Given the description of an element on the screen output the (x, y) to click on. 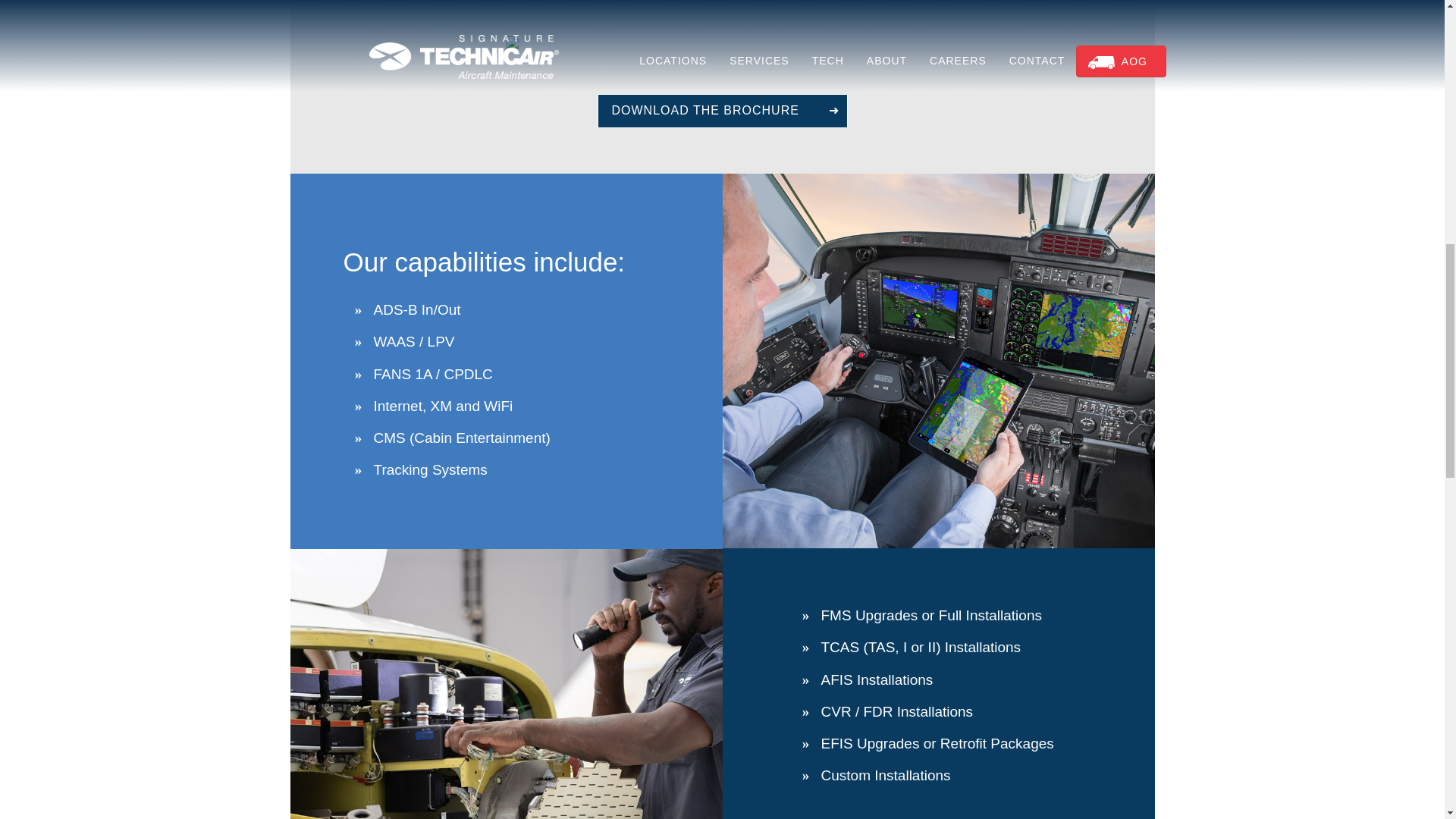
DOWNLOAD THE BROCHURE (721, 110)
